Given the description of an element on the screen output the (x, y) to click on. 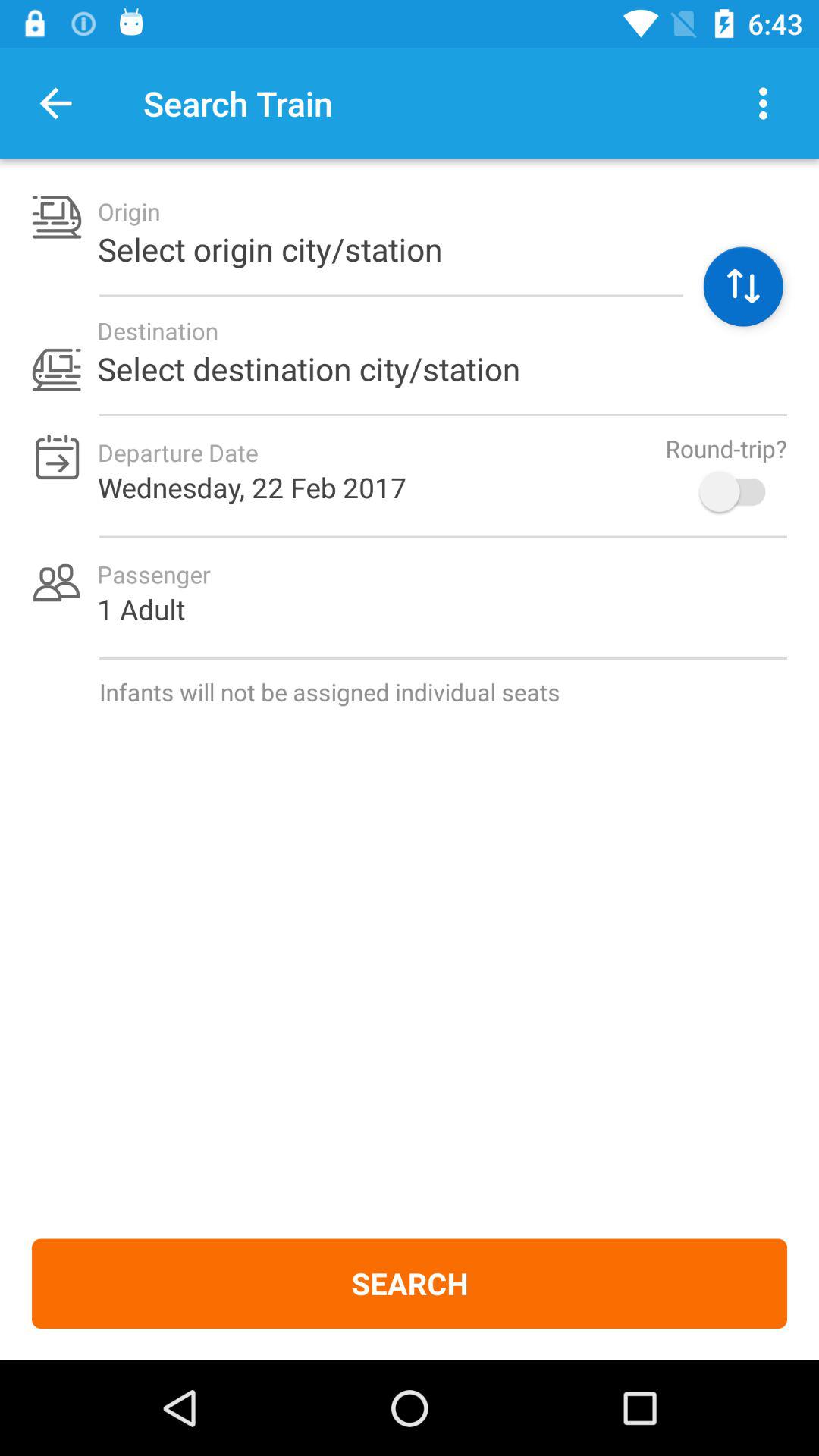
open other options (763, 103)
